Given the description of an element on the screen output the (x, y) to click on. 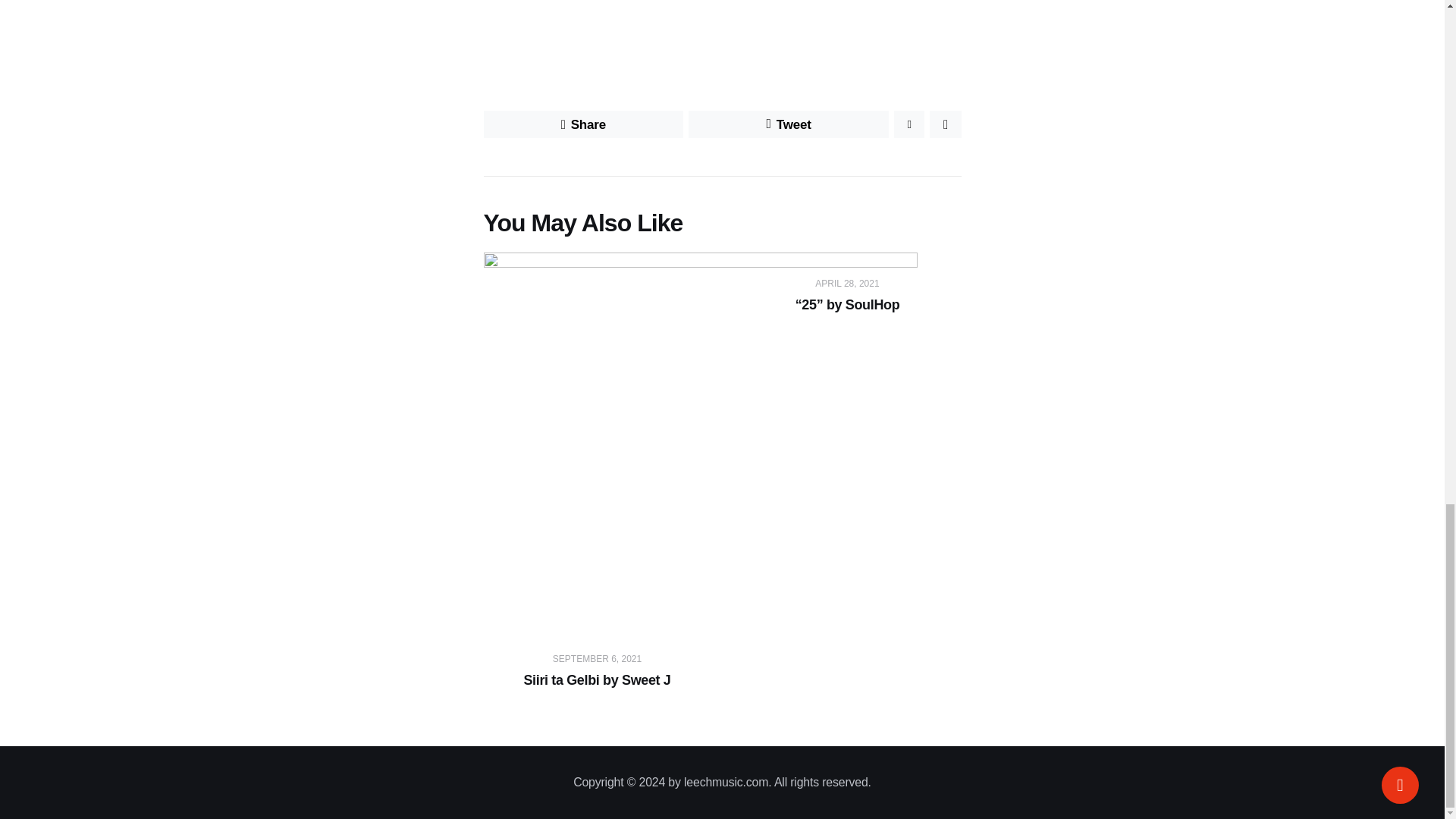
Love Myself - Cassius Cobain (721, 32)
Share (583, 124)
Siiri ta Gelbi by Sweet J (597, 679)
SEPTEMBER 6, 2021 (597, 658)
Tweet (788, 124)
APRIL 28, 2021 (847, 283)
